Given the description of an element on the screen output the (x, y) to click on. 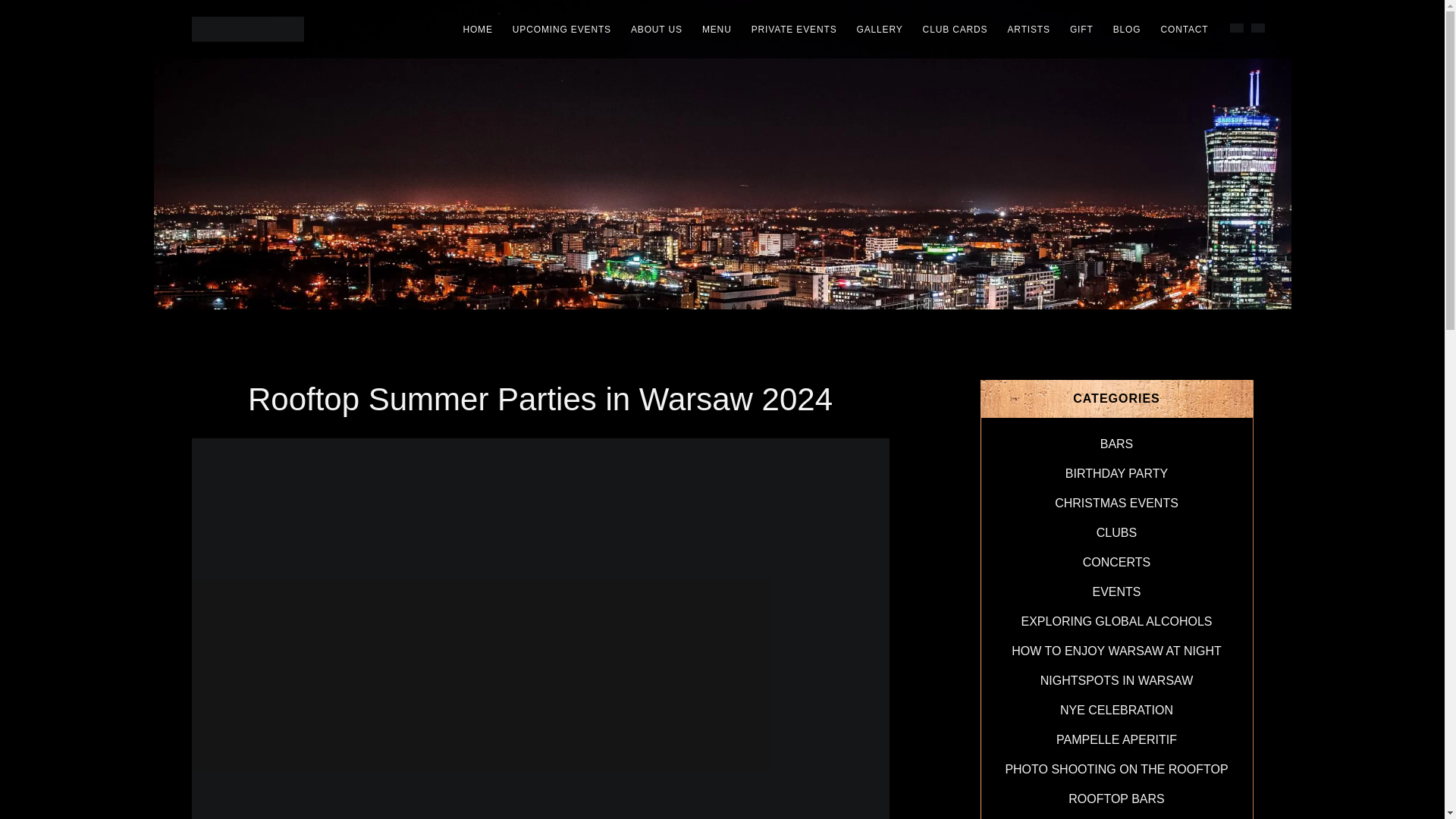
EVENTS (1116, 591)
BARS (1117, 443)
NIGHTSPOTS IN WARSAW (1116, 680)
CLUBS (1116, 532)
HOME (477, 28)
MENU (717, 28)
ABOUT US (657, 28)
CHRISTMAS EVENTS (1115, 502)
ARTISTS (1028, 28)
CONTACT (1183, 28)
UPCOMING EVENTS (561, 28)
GALLERY (878, 28)
PHOTO SHOOTING ON THE ROOFTOP (1115, 768)
CONCERTS (1117, 562)
BIRTHDAY PARTY (1116, 472)
